Given the description of an element on the screen output the (x, y) to click on. 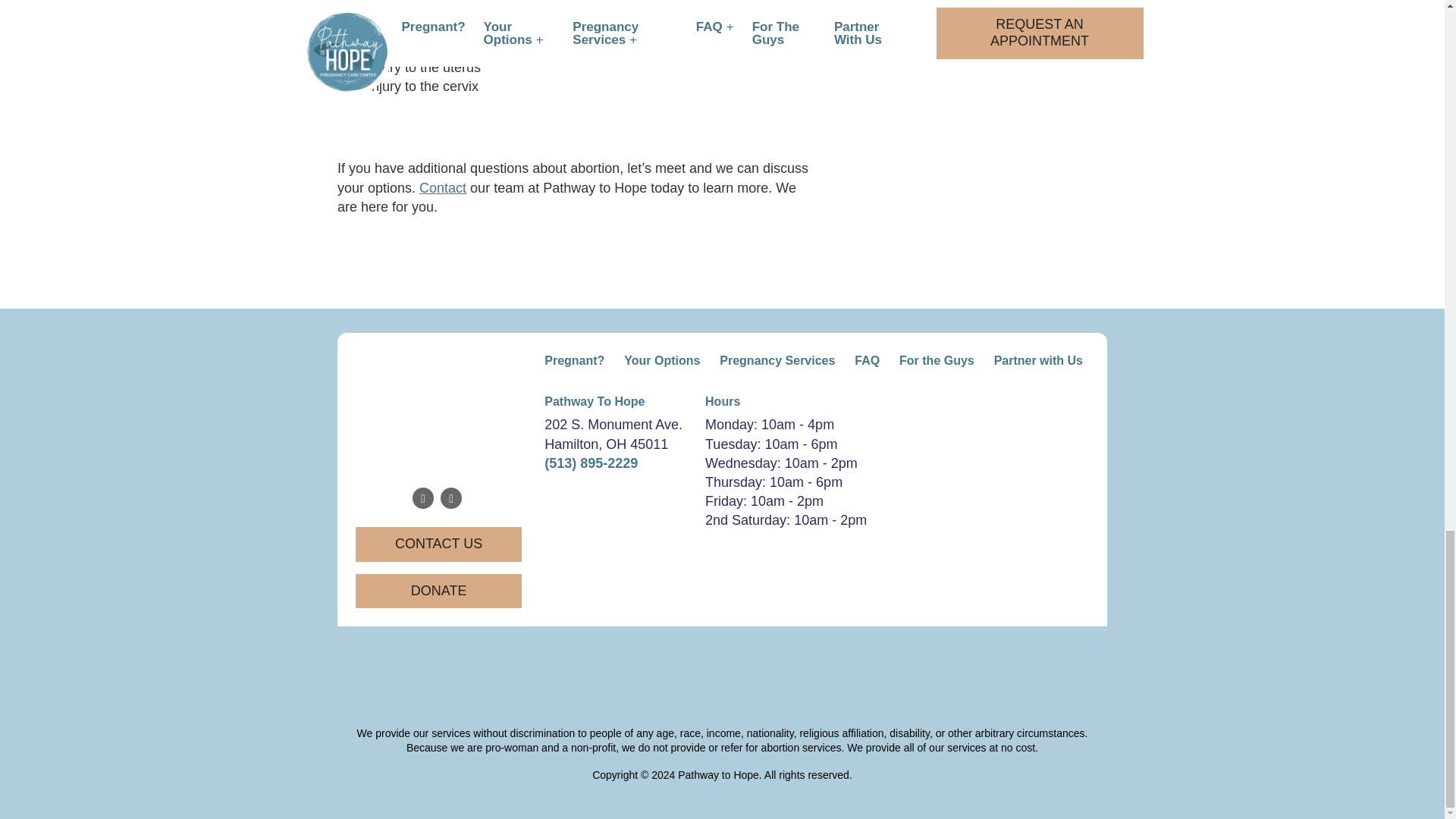
Pregnant? (574, 360)
CONTACT US (438, 544)
For the Guys (936, 360)
map (721, 663)
Your Options (661, 360)
Pregnancy Services (777, 360)
DONATE (438, 591)
Partner with Us (1038, 360)
Contact (442, 187)
FAQ (866, 360)
